Given the description of an element on the screen output the (x, y) to click on. 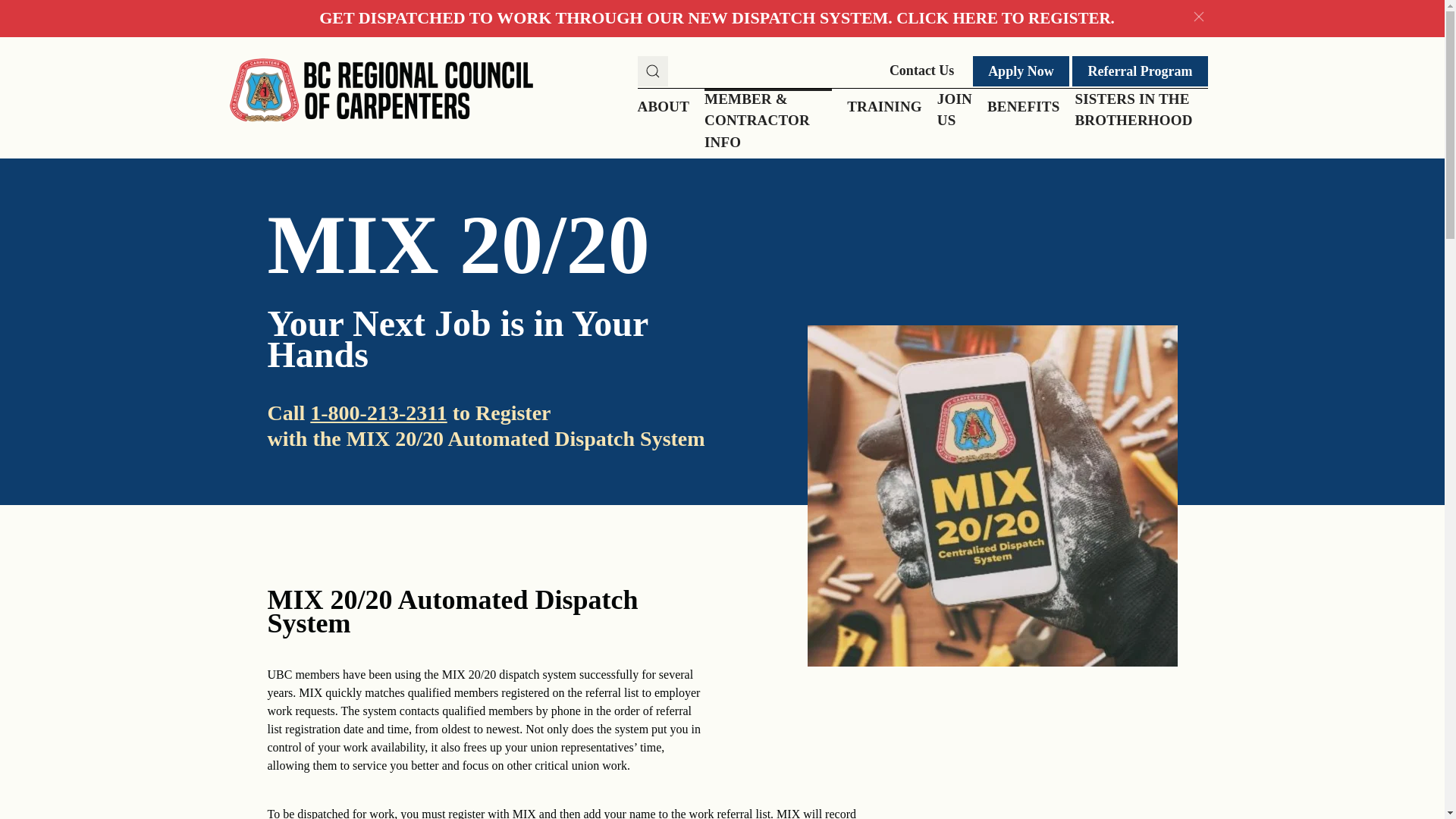
CLICK HERE TO REGISTER. (1004, 18)
ABOUT (667, 107)
